Given the description of an element on the screen output the (x, y) to click on. 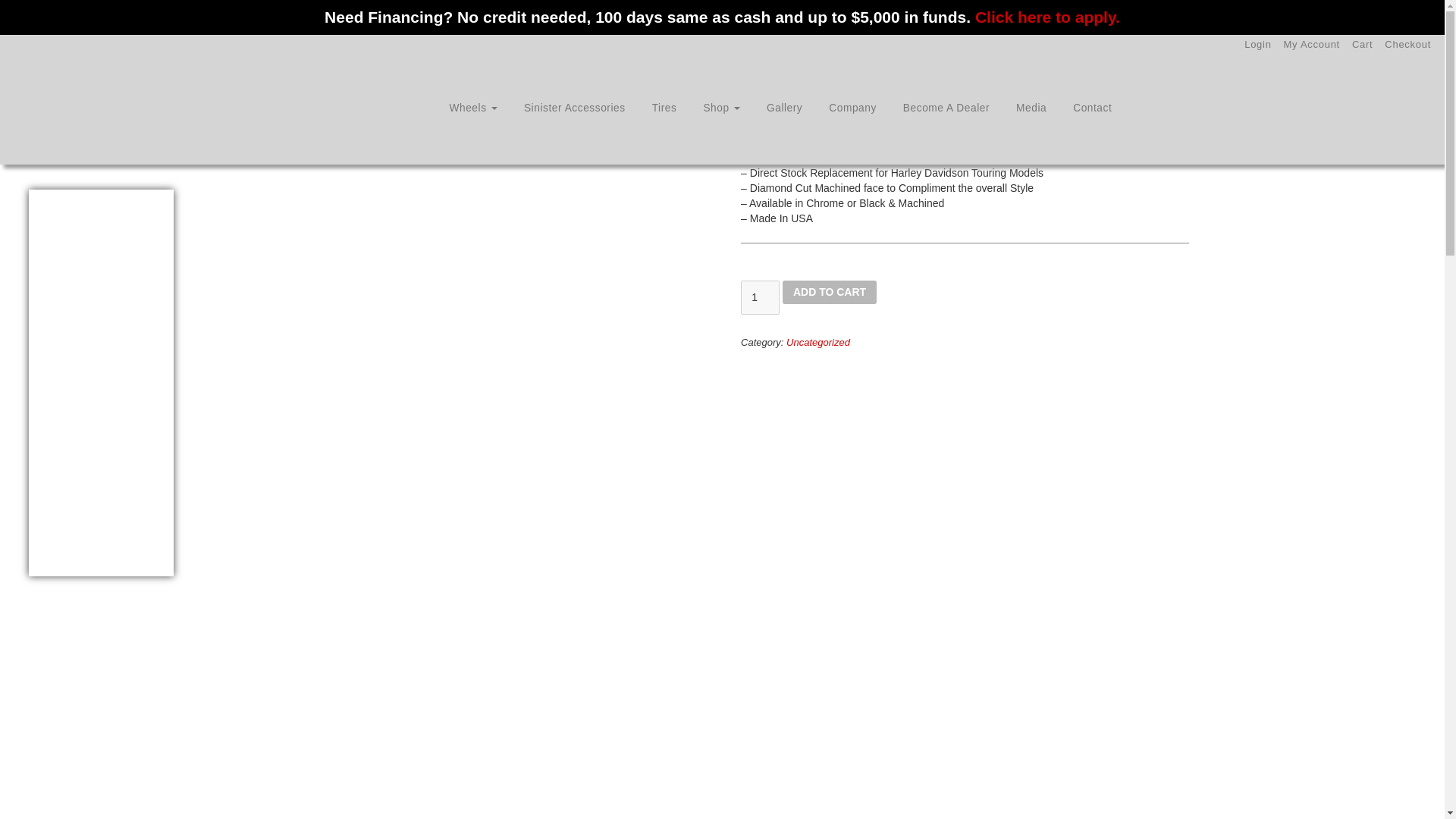
Contact (1091, 108)
Wheels (473, 108)
Checkout (1407, 43)
Media (1031, 108)
Sinister Accessories (574, 108)
Tires (664, 108)
Wheels (473, 108)
Become A Dealer (946, 108)
My Account (1311, 43)
Cart (1362, 43)
